Given the description of an element on the screen output the (x, y) to click on. 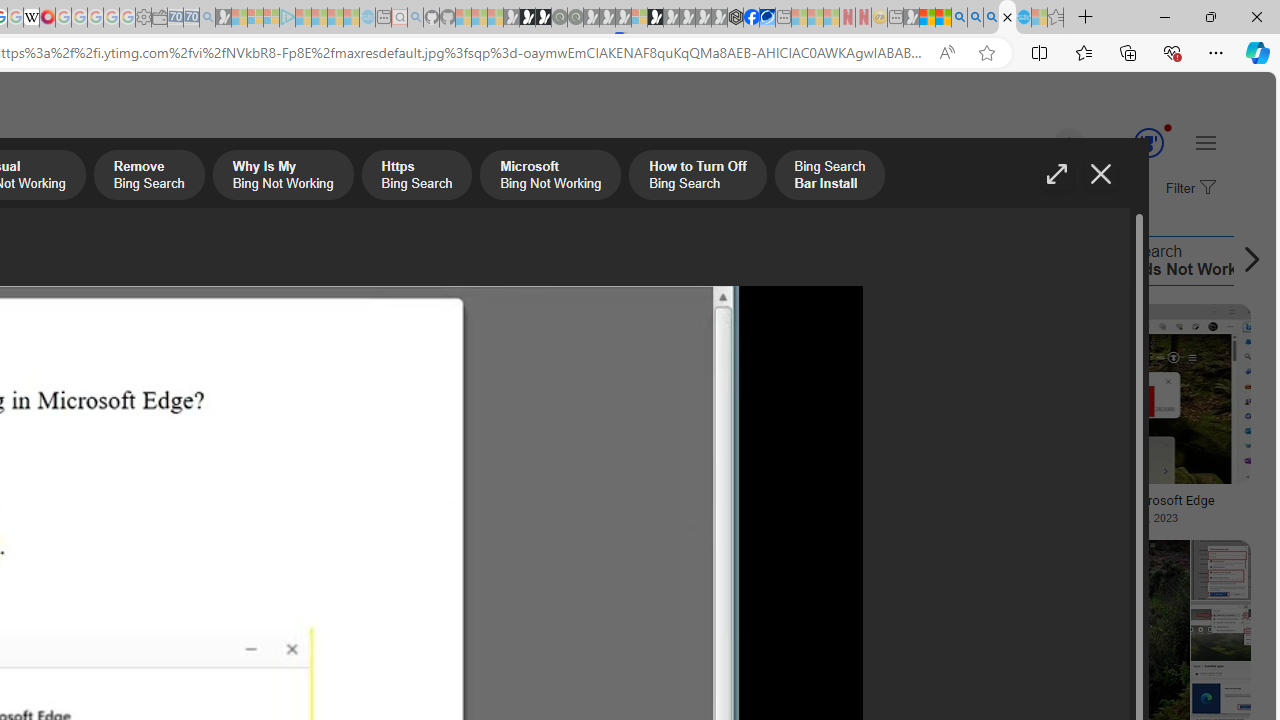
Sign in to your account - Sleeping (639, 17)
Full screen (1055, 173)
Remove Bing Search (148, 177)
Bing Search Rewards Not Working (1066, 260)
Bing AI - Search (959, 17)
Bing Search Bar Install (471, 260)
Settings - Sleeping (143, 17)
White Bing Cherries (134, 493)
3:16 (969, 322)
